Given the description of an element on the screen output the (x, y) to click on. 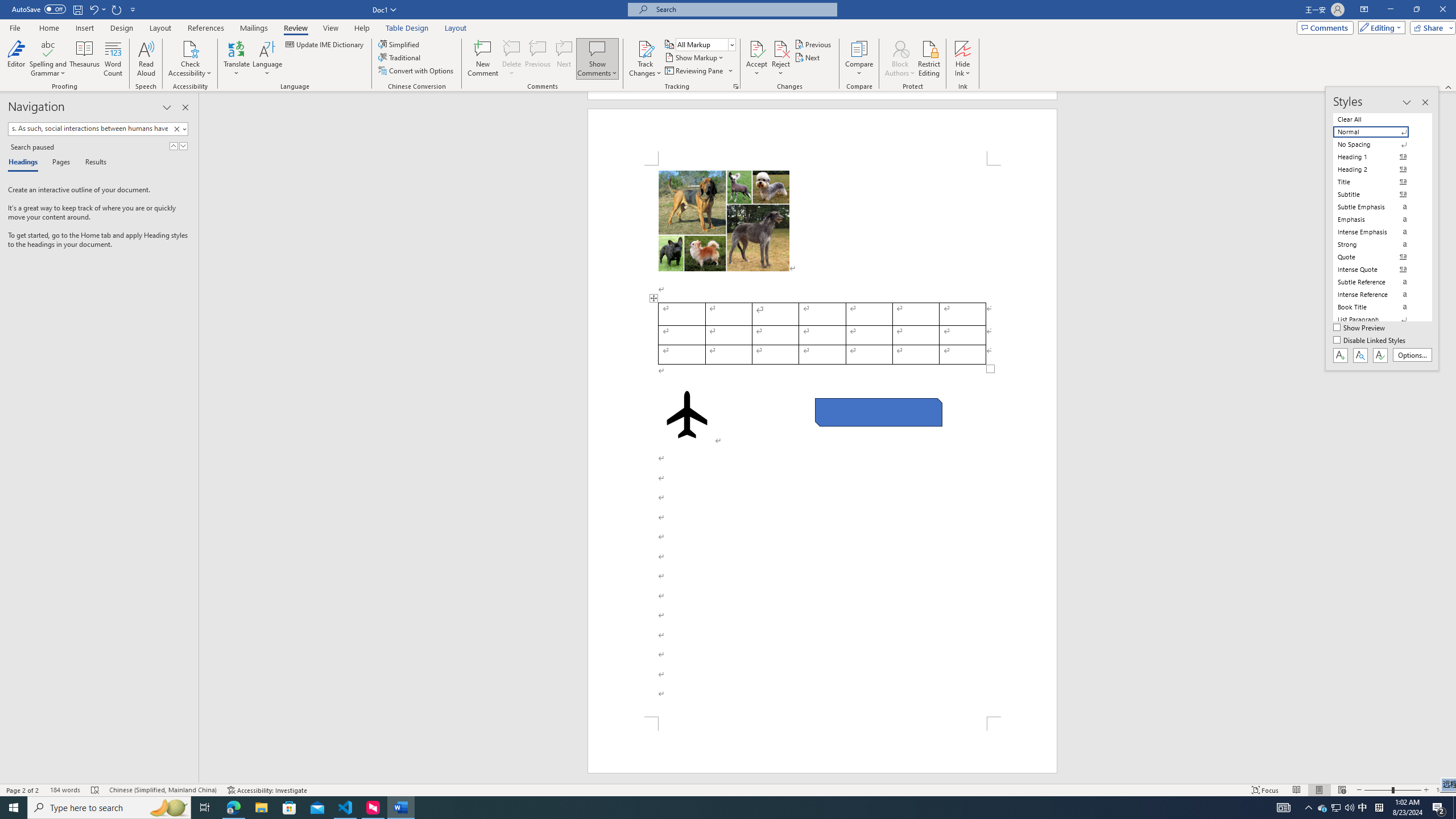
Task Pane Options (167, 107)
Compare (859, 58)
Reject and Move to Next (780, 48)
Layout (455, 28)
Block Authors (900, 58)
Editing (1379, 27)
No Spacing (1377, 144)
Reviewing Pane (698, 69)
Morphological variation in six dogs (723, 220)
Close pane (185, 107)
Customize Quick Access Toolbar (133, 9)
